Given the description of an element on the screen output the (x, y) to click on. 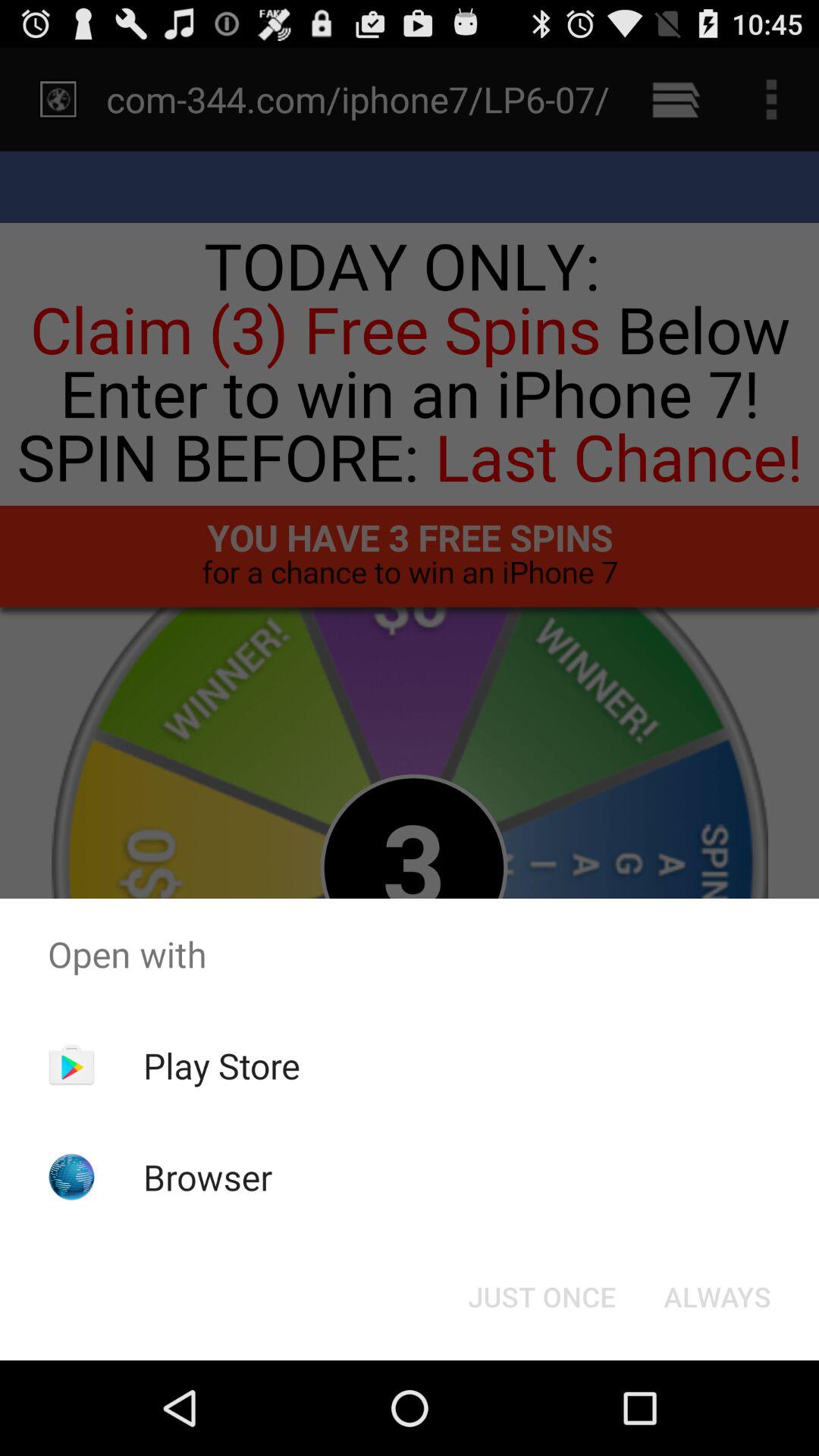
press the icon next to the always button (541, 1296)
